Given the description of an element on the screen output the (x, y) to click on. 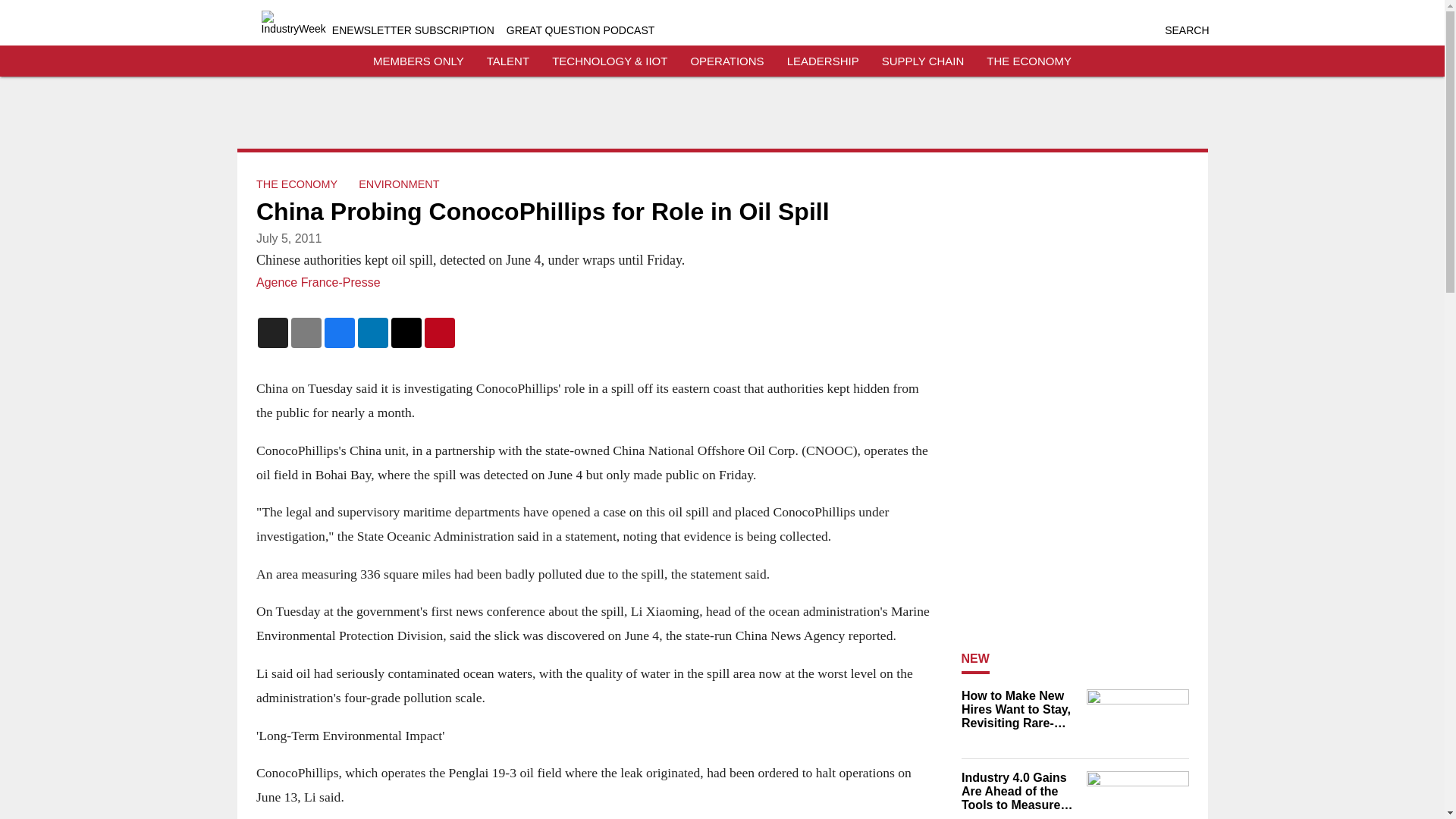
Industry 4.0 Gains Are Ahead of the Tools to Measure Them (1019, 791)
THE ECONOMY (296, 184)
TALENT (507, 60)
ENEWSLETTER SUBSCRIPTION (413, 30)
SUPPLY CHAIN (922, 60)
MEMBERS ONLY (418, 60)
OPERATIONS (726, 60)
LEADERSHIP (823, 60)
SEARCH (1186, 30)
Agence France-Presse (318, 282)
THE ECONOMY (1029, 60)
ENVIRONMENT (398, 184)
GREAT QUESTION PODCAST (580, 30)
